Given the description of an element on the screen output the (x, y) to click on. 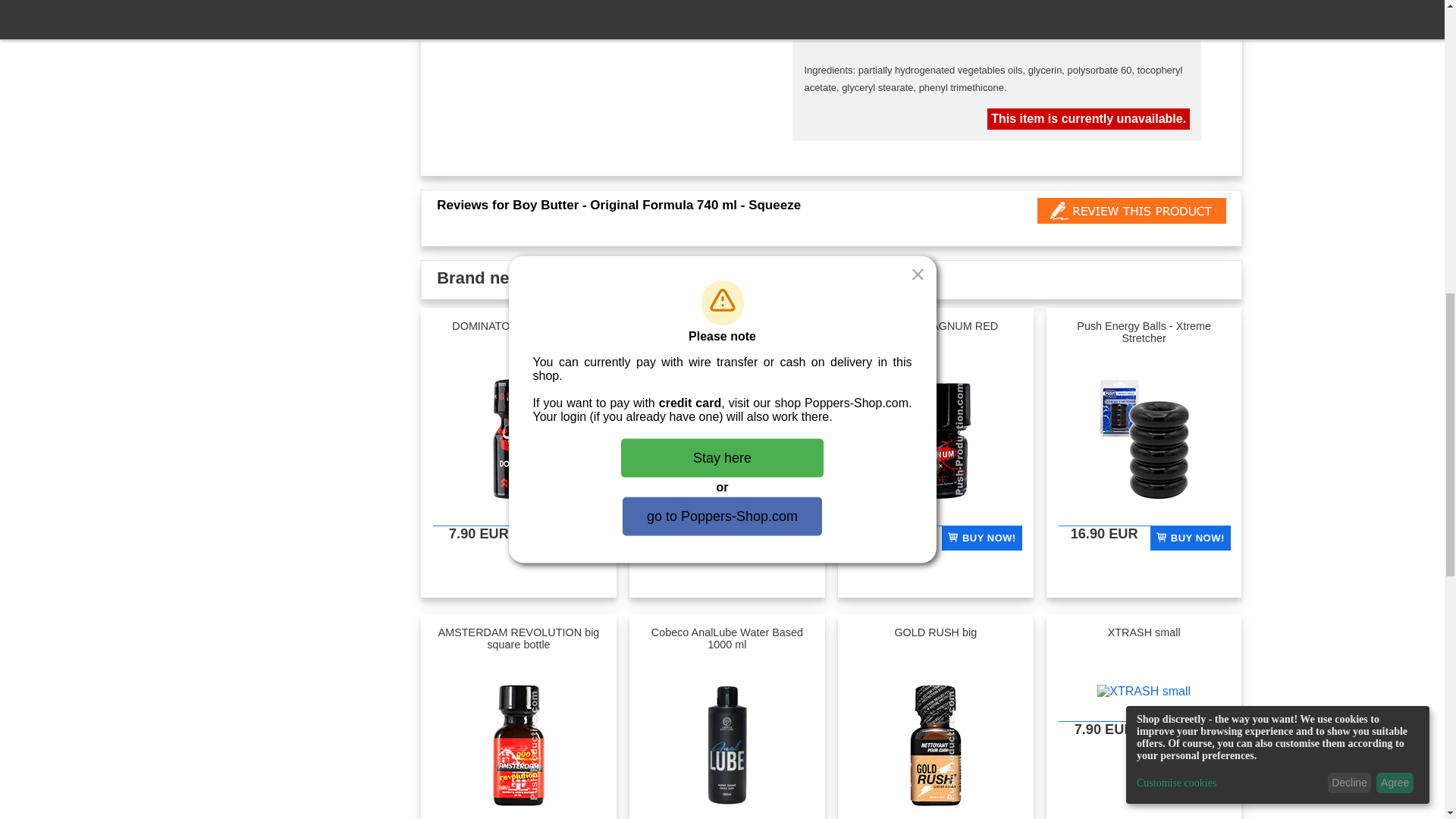
 Write Evaluation  (1130, 210)
